Given the description of an element on the screen output the (x, y) to click on. 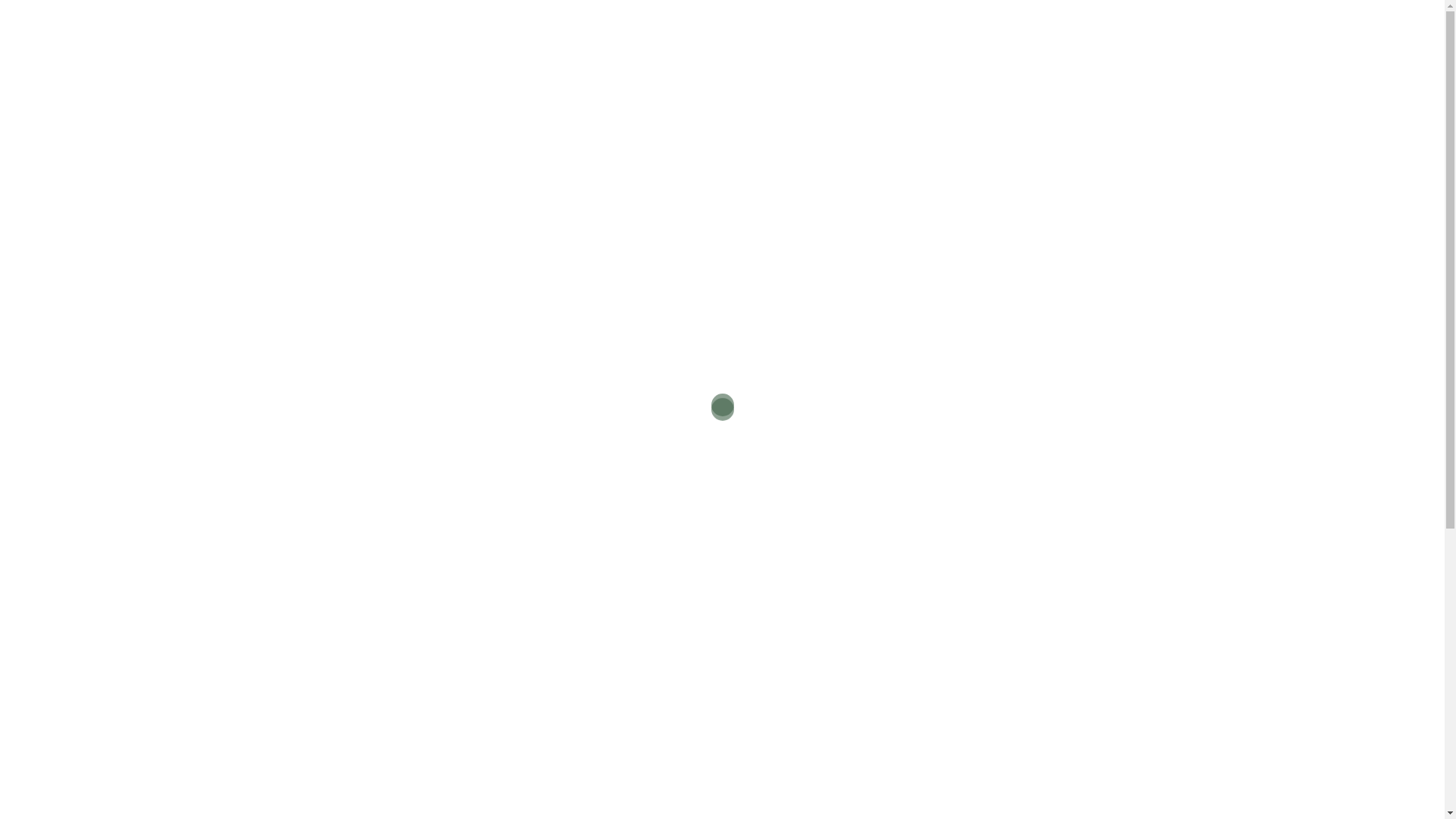
Hand therapy pain management 1 Element type: hover (403, 319)
ABOUT US Element type: text (361, 68)
hello@handtherapyassociates.com.au Element type: text (1043, 14)
CONDITIONS TREATED Element type: text (544, 68)
02 8078 0692 Element type: text (1043, 30)
Hand Therapy Associates Element type: hover (359, 21)
Hand therapy pain management Element type: text (412, 588)
CONTACT & LOCATIONS Element type: text (686, 68)
HOME Element type: text (302, 68)
CALL NOW Element type: text (1067, 71)
OUR TEAM Element type: text (430, 68)
